Given the description of an element on the screen output the (x, y) to click on. 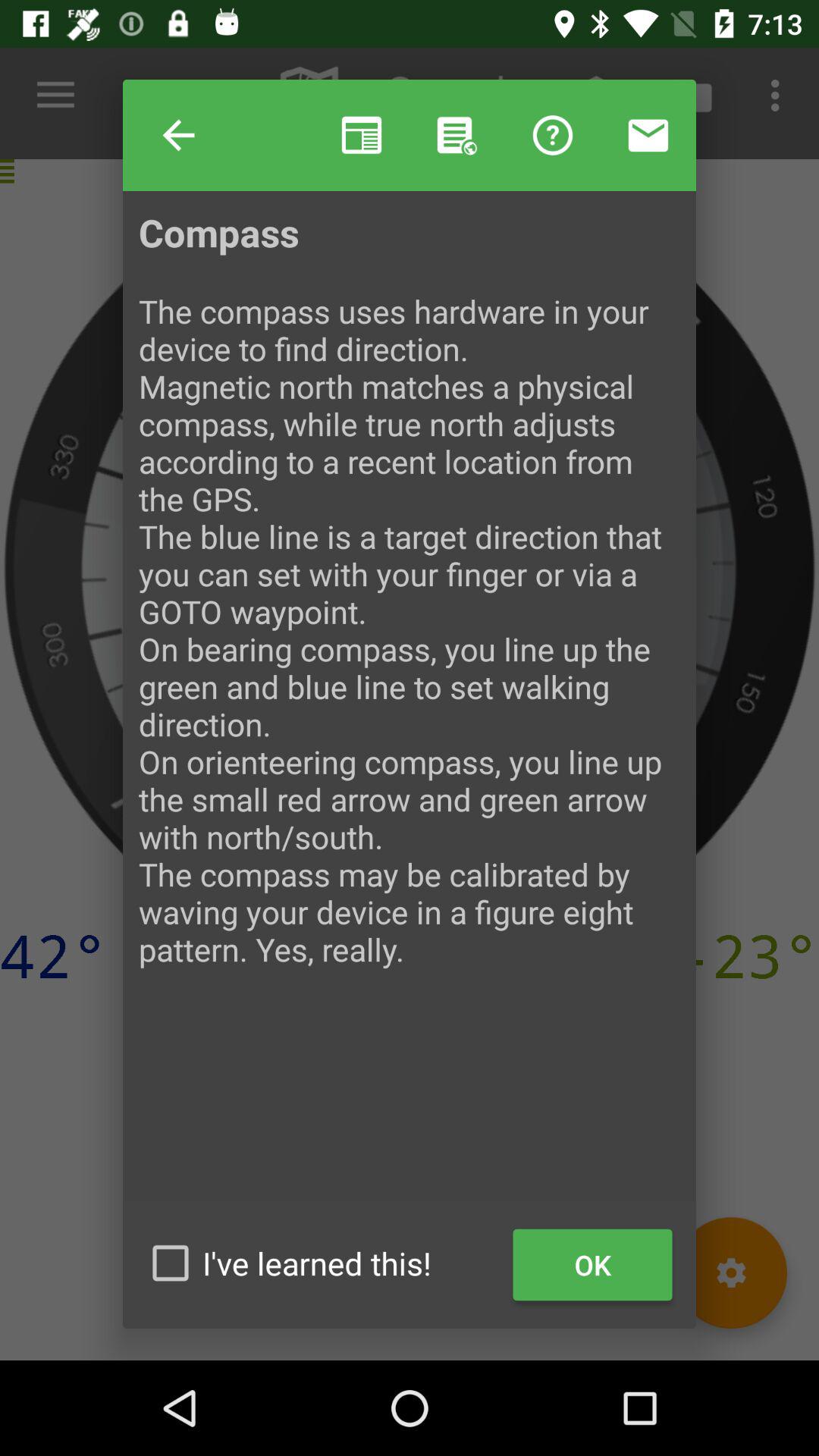
open the icon next to the i ve learned icon (592, 1264)
